Given the description of an element on the screen output the (x, y) to click on. 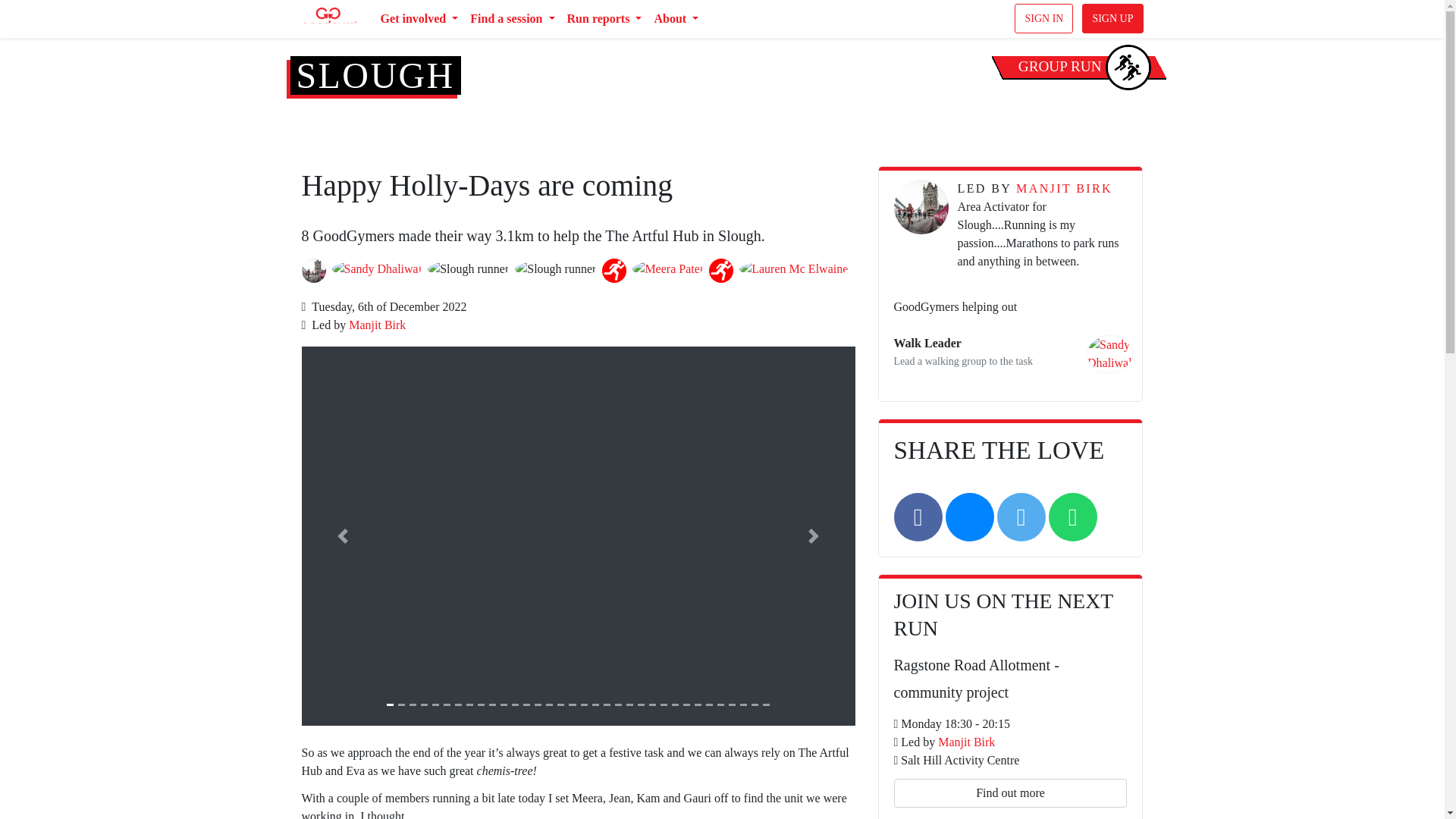
SIGN UP (1111, 18)
Find a session (512, 19)
SIGN IN (1043, 18)
Messenger (968, 517)
About (675, 19)
Run reports (603, 19)
SLOUGH (374, 75)
Get involved (419, 19)
